Given the description of an element on the screen output the (x, y) to click on. 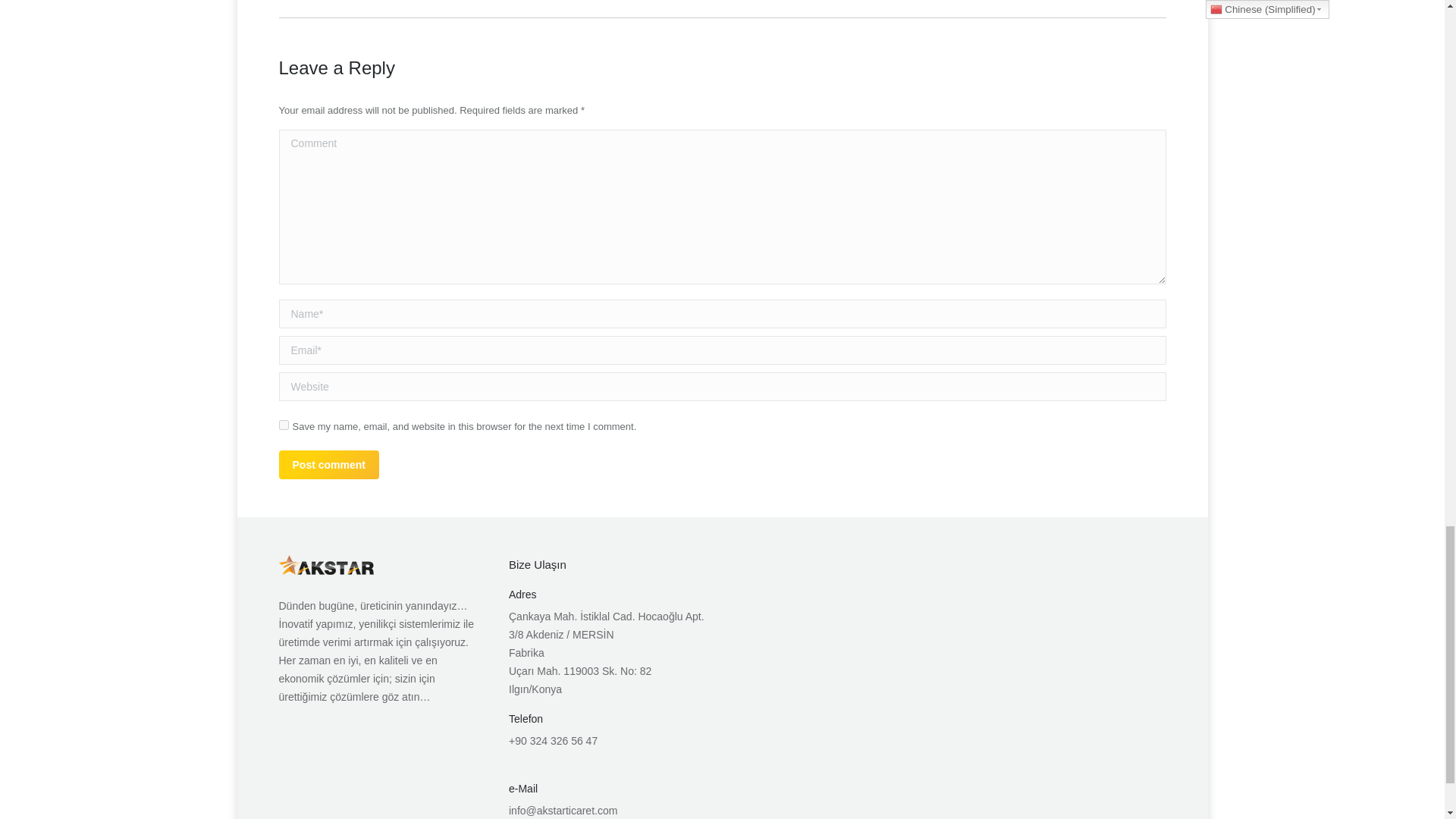
yes (283, 424)
